Given the description of an element on the screen output the (x, y) to click on. 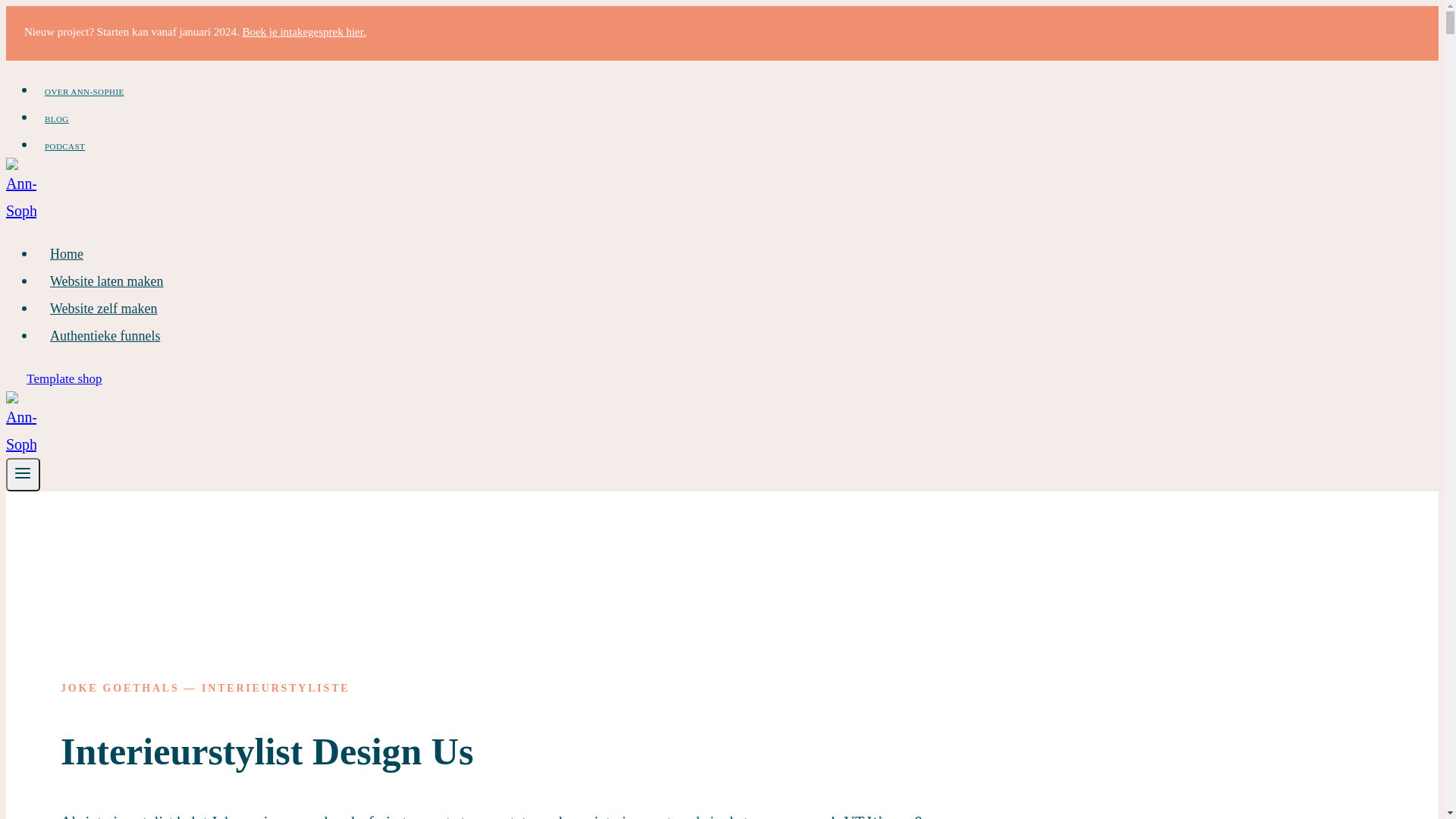
Template shop Element type: text (64, 378)
BLOG Element type: text (56, 118)
Home Element type: text (66, 253)
Toggle menu Element type: text (23, 474)
Website laten maken Element type: text (106, 281)
Boek je intakegesprek hier. Element type: text (303, 31)
Website zelf maken Element type: text (103, 308)
OVER ANN-SOPHIE Element type: text (84, 91)
Authentieke funnels Element type: text (104, 335)
PODCAST Element type: text (64, 146)
Doorgaan naar inhoud Element type: text (5, 5)
